Given the description of an element on the screen output the (x, y) to click on. 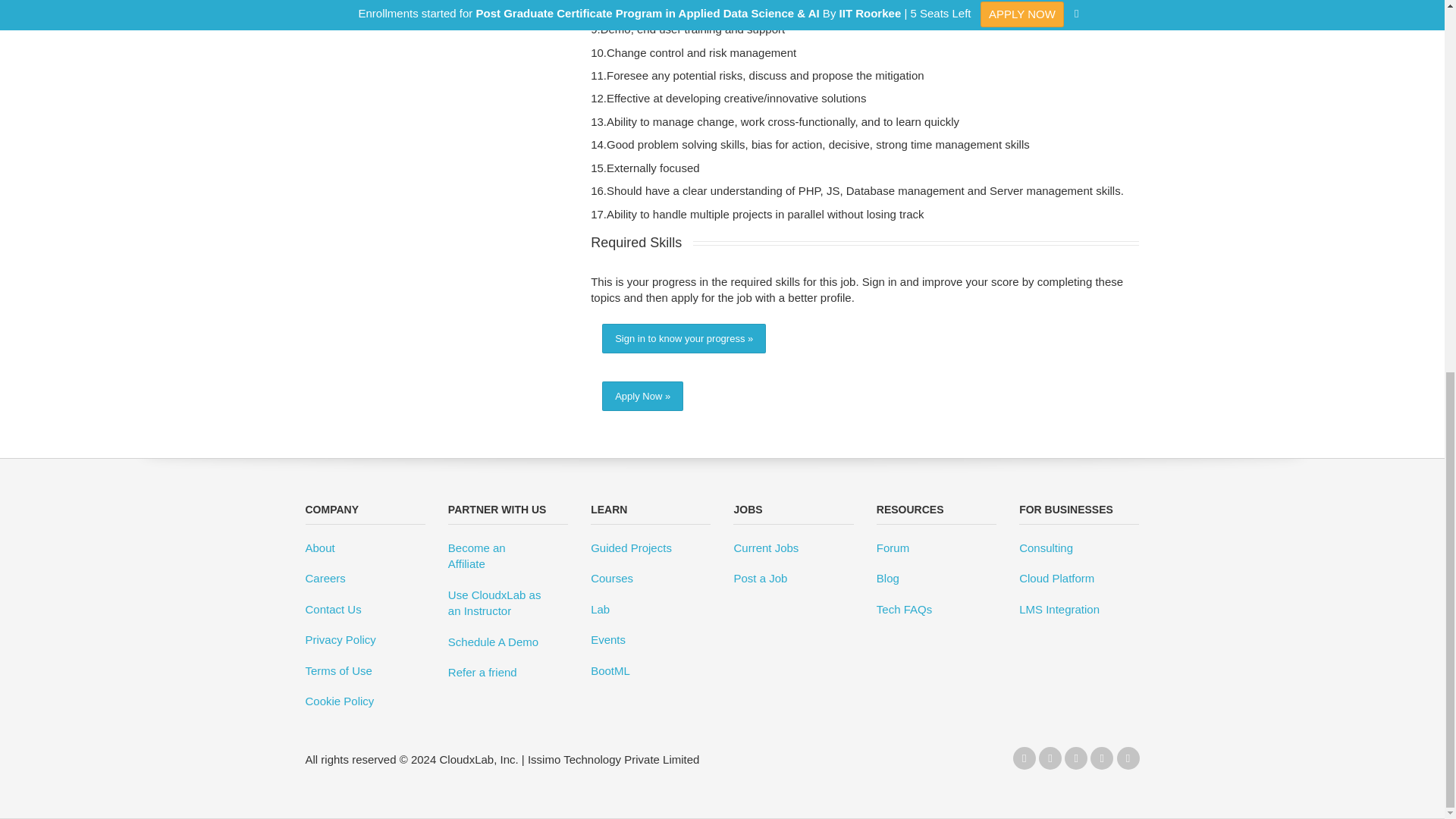
Contact Us (364, 612)
Careers (364, 581)
About (364, 551)
Terms of Use (364, 674)
Privacy Policy (364, 643)
